Given the description of an element on the screen output the (x, y) to click on. 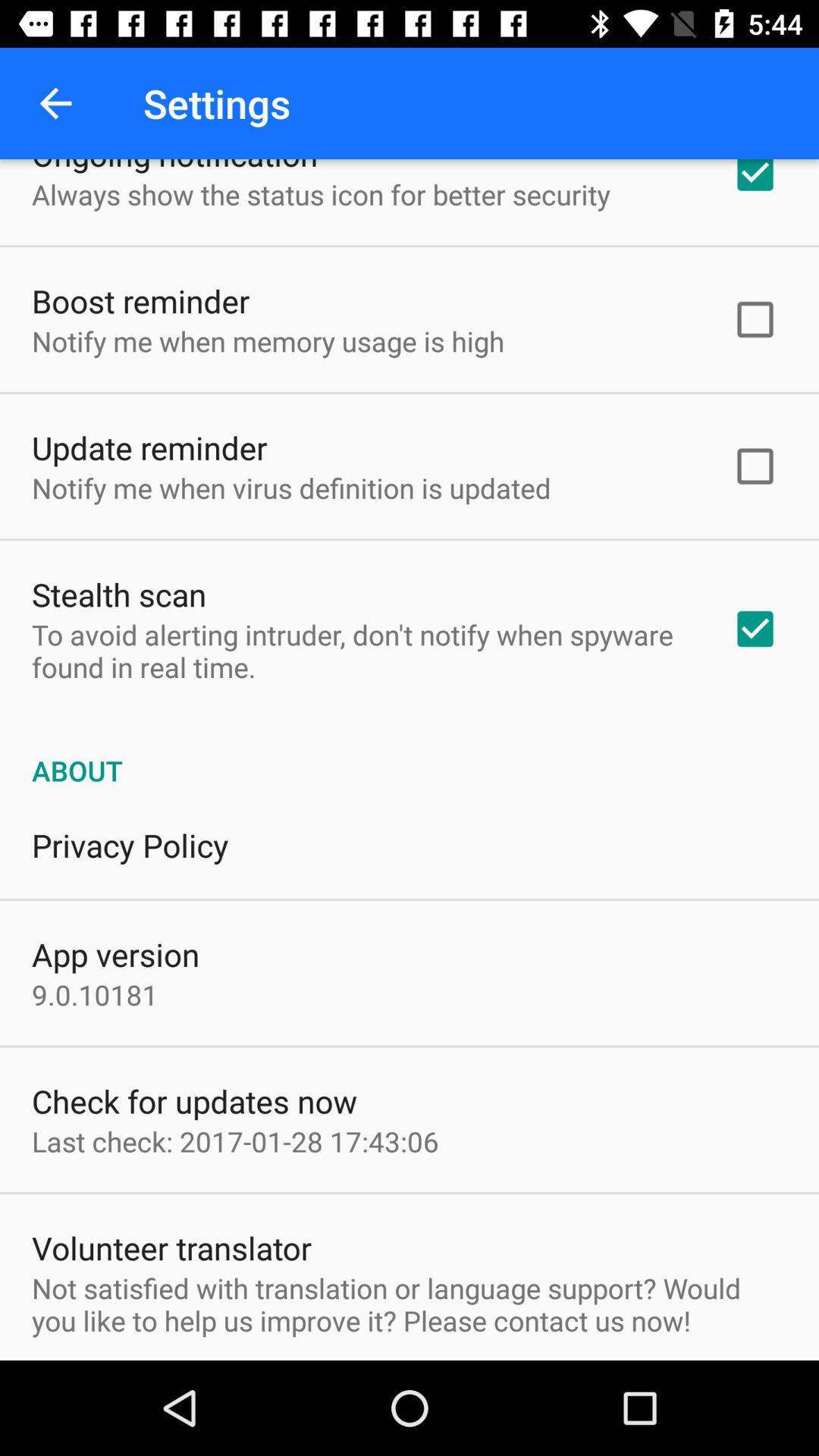
click the item below app version (94, 994)
